Given the description of an element on the screen output the (x, y) to click on. 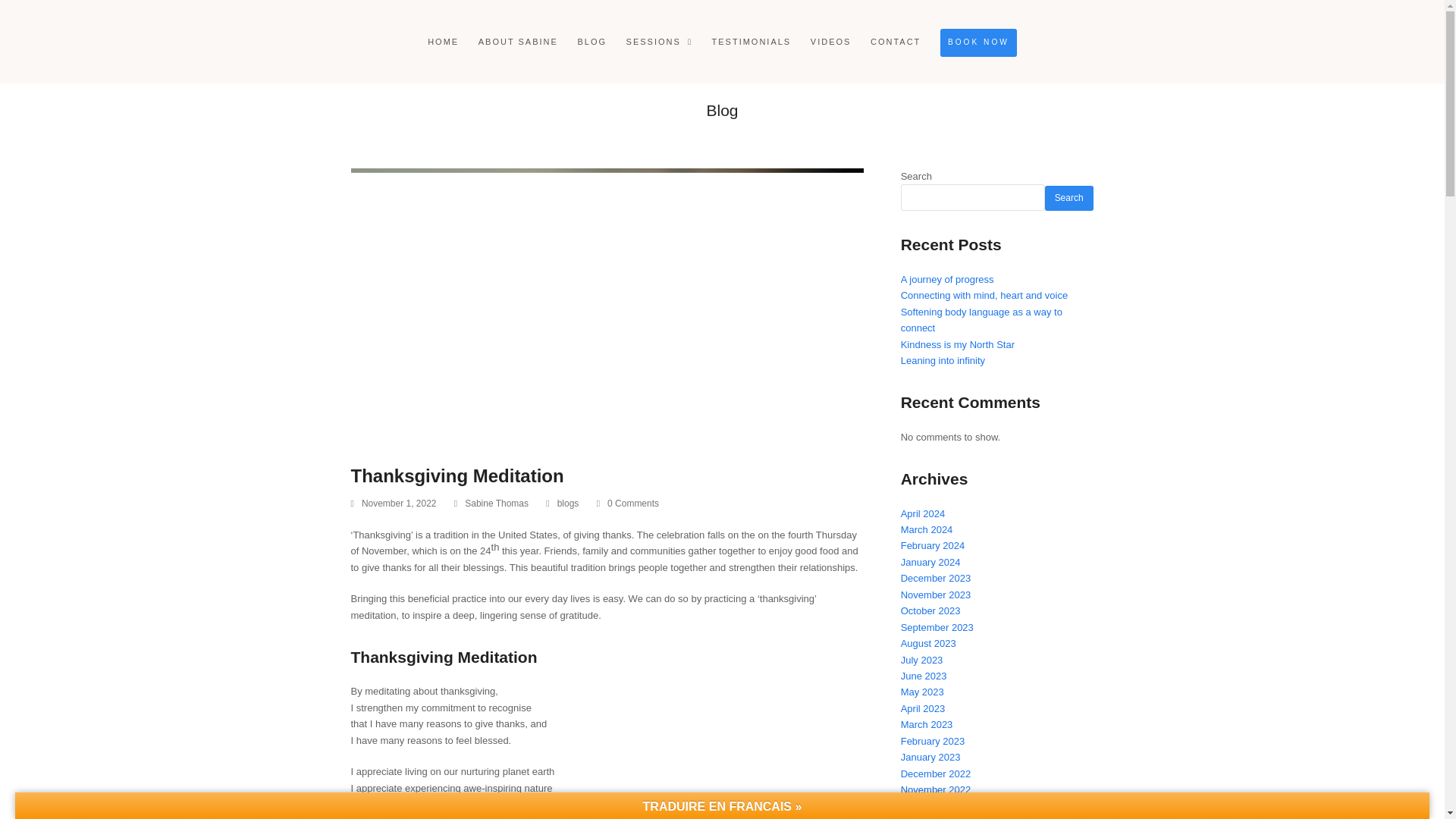
CONTACT (895, 41)
BOOK NOW (978, 41)
BLOG (591, 41)
blogs (568, 502)
0 Comments (627, 503)
Sabine Thomas (496, 502)
ABOUT SABINE (517, 41)
HOME (442, 41)
Kindness is my North Star (957, 344)
Posts by Sabine Thomas (496, 502)
